Given the description of an element on the screen output the (x, y) to click on. 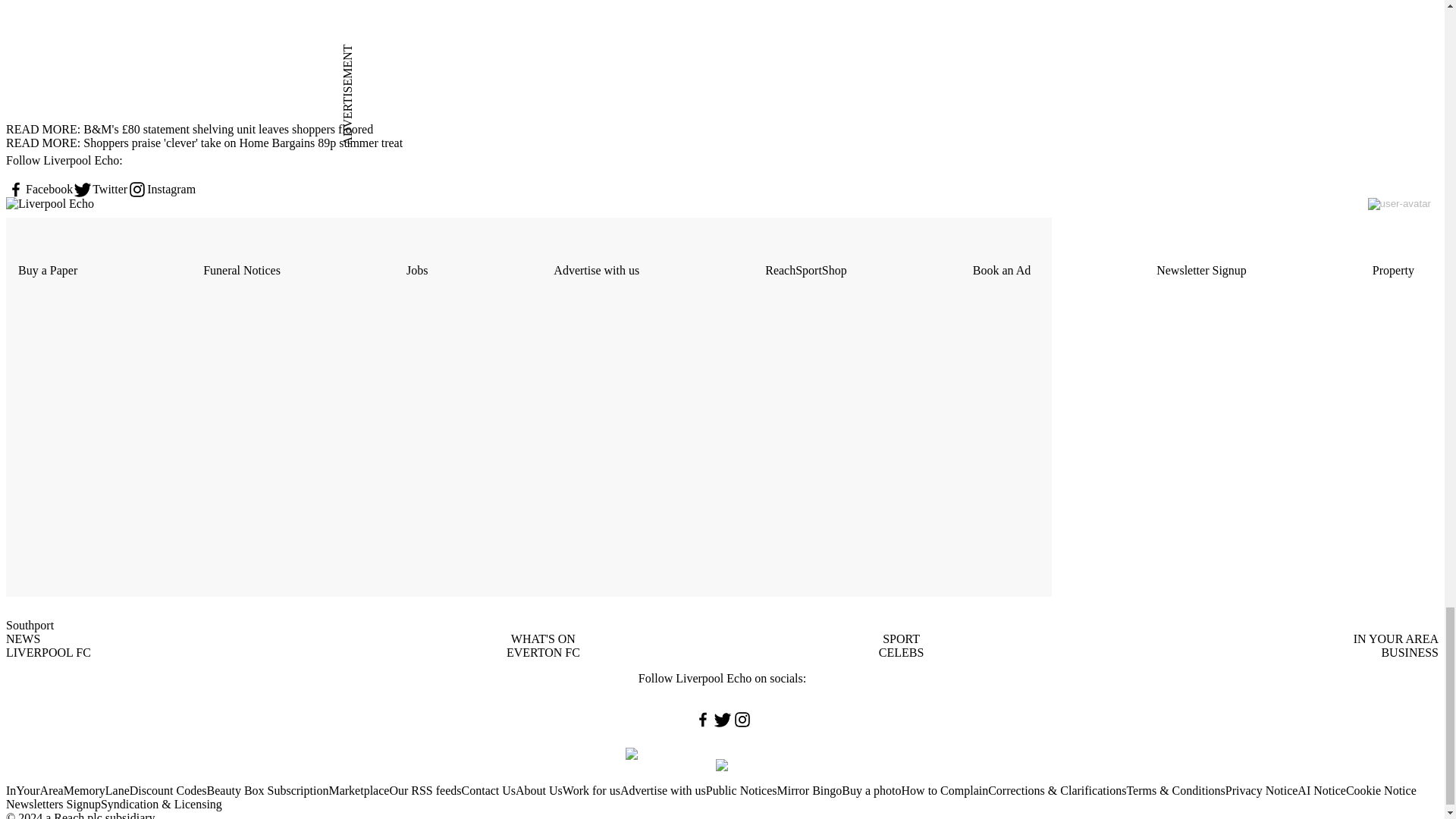
Facebook (38, 189)
Twitter (100, 189)
Instagram (161, 189)
